Given the description of an element on the screen output the (x, y) to click on. 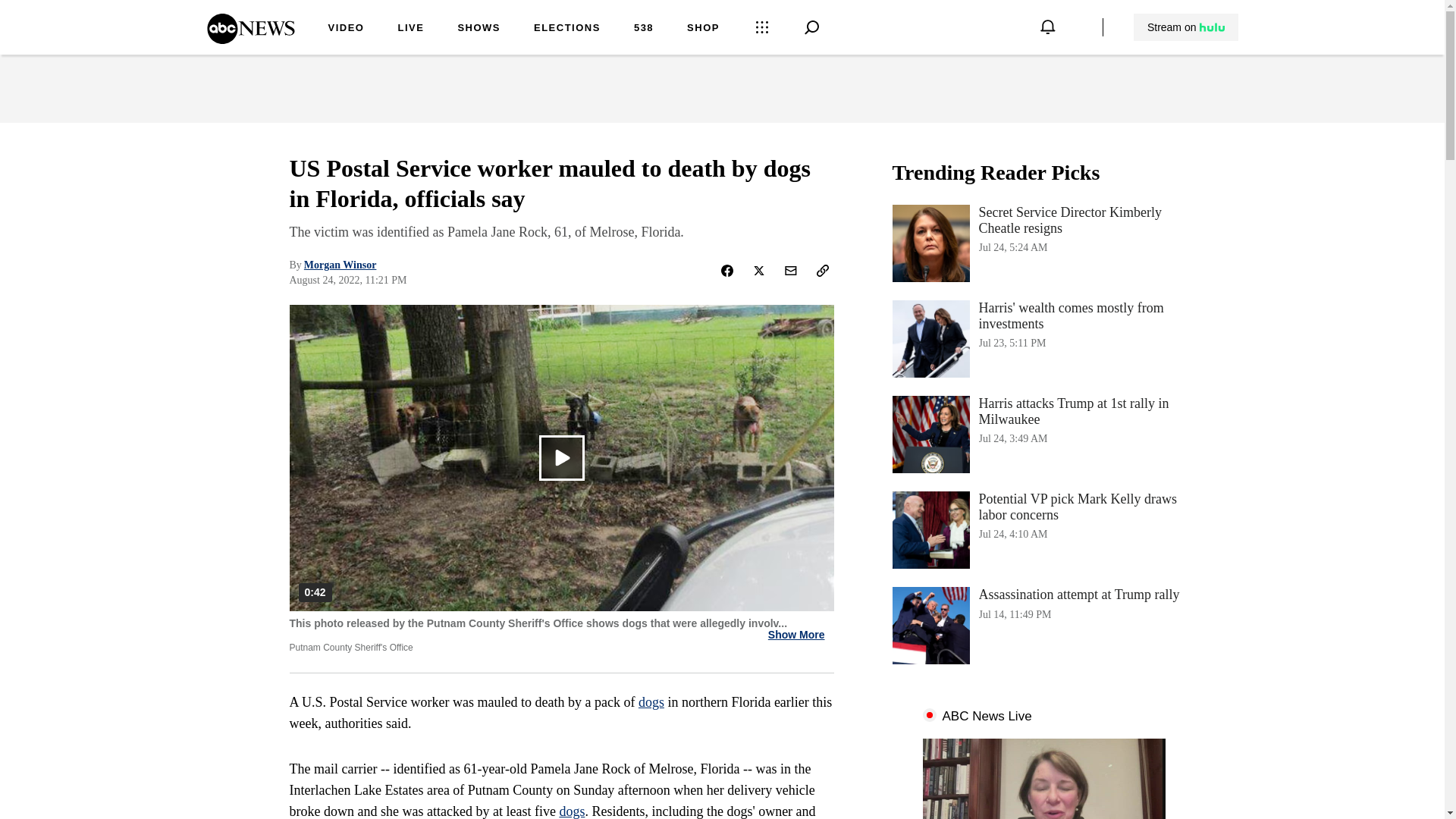
SHOP (703, 28)
Stream on (1185, 27)
SHOWS (478, 28)
dogs (572, 811)
LIVE (410, 28)
Morgan Winsor (340, 265)
ELECTIONS (566, 28)
ABC News (250, 38)
dogs (651, 702)
Stream on (1186, 26)
Show More (796, 634)
VIDEO (345, 28)
